Given the description of an element on the screen output the (x, y) to click on. 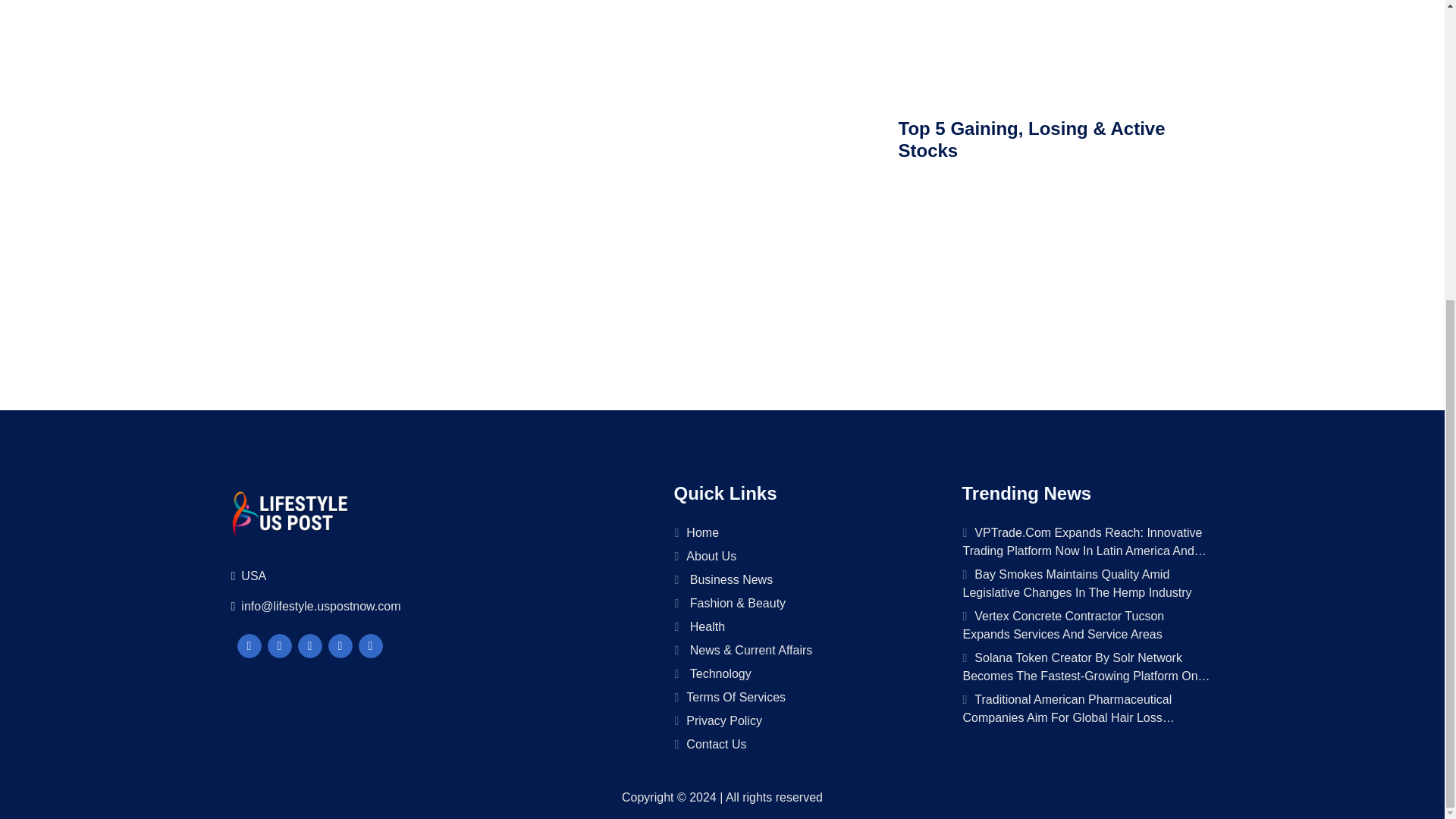
About Us (798, 556)
Home (798, 532)
Technology (798, 673)
Health (798, 627)
Contact Us (798, 744)
Business News (798, 579)
Privacy Policy (798, 721)
Terms Of Services (798, 697)
